Given the description of an element on the screen output the (x, y) to click on. 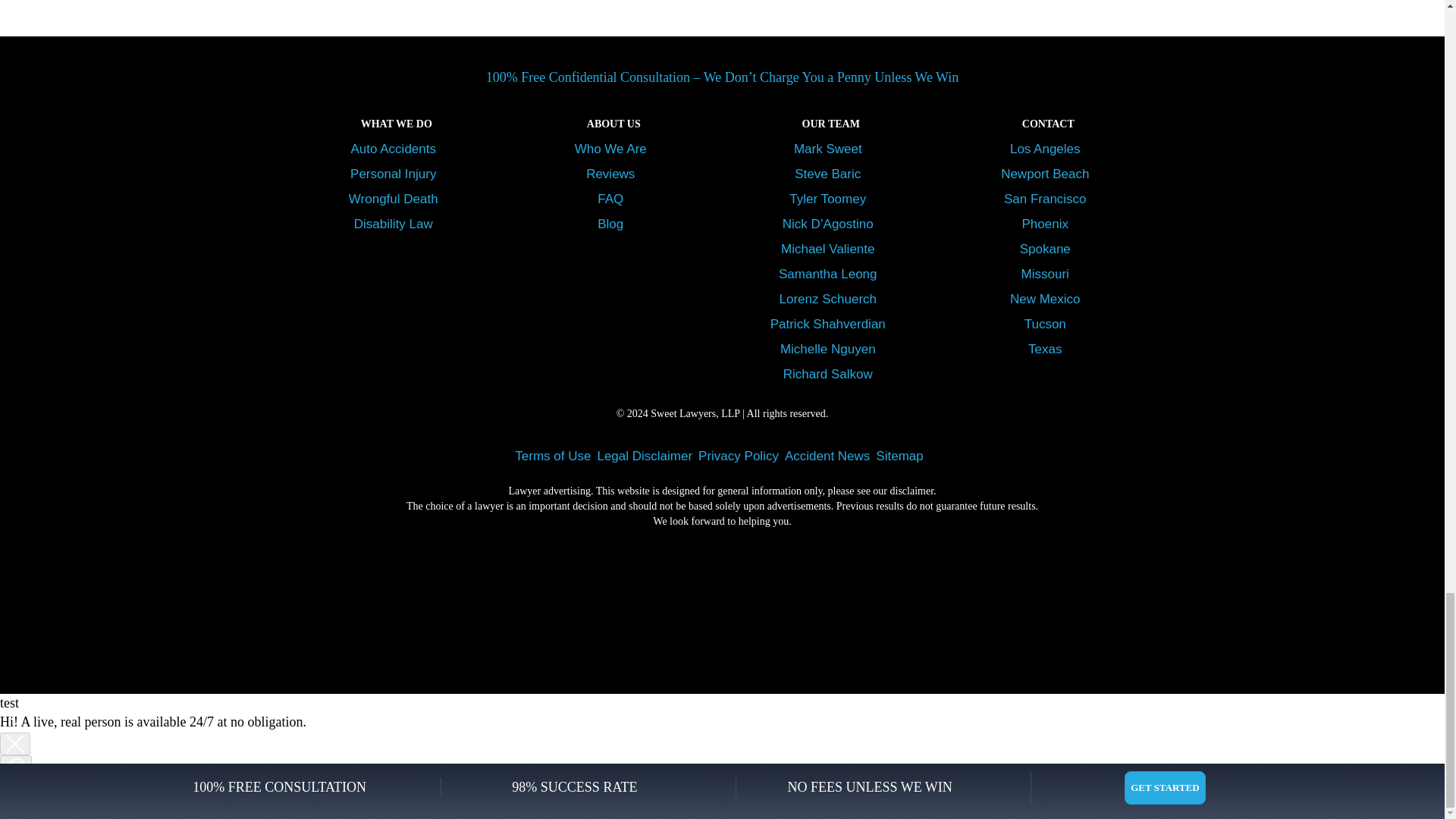
Auto Accidents (396, 148)
Personal Injury (396, 173)
